Given the description of an element on the screen output the (x, y) to click on. 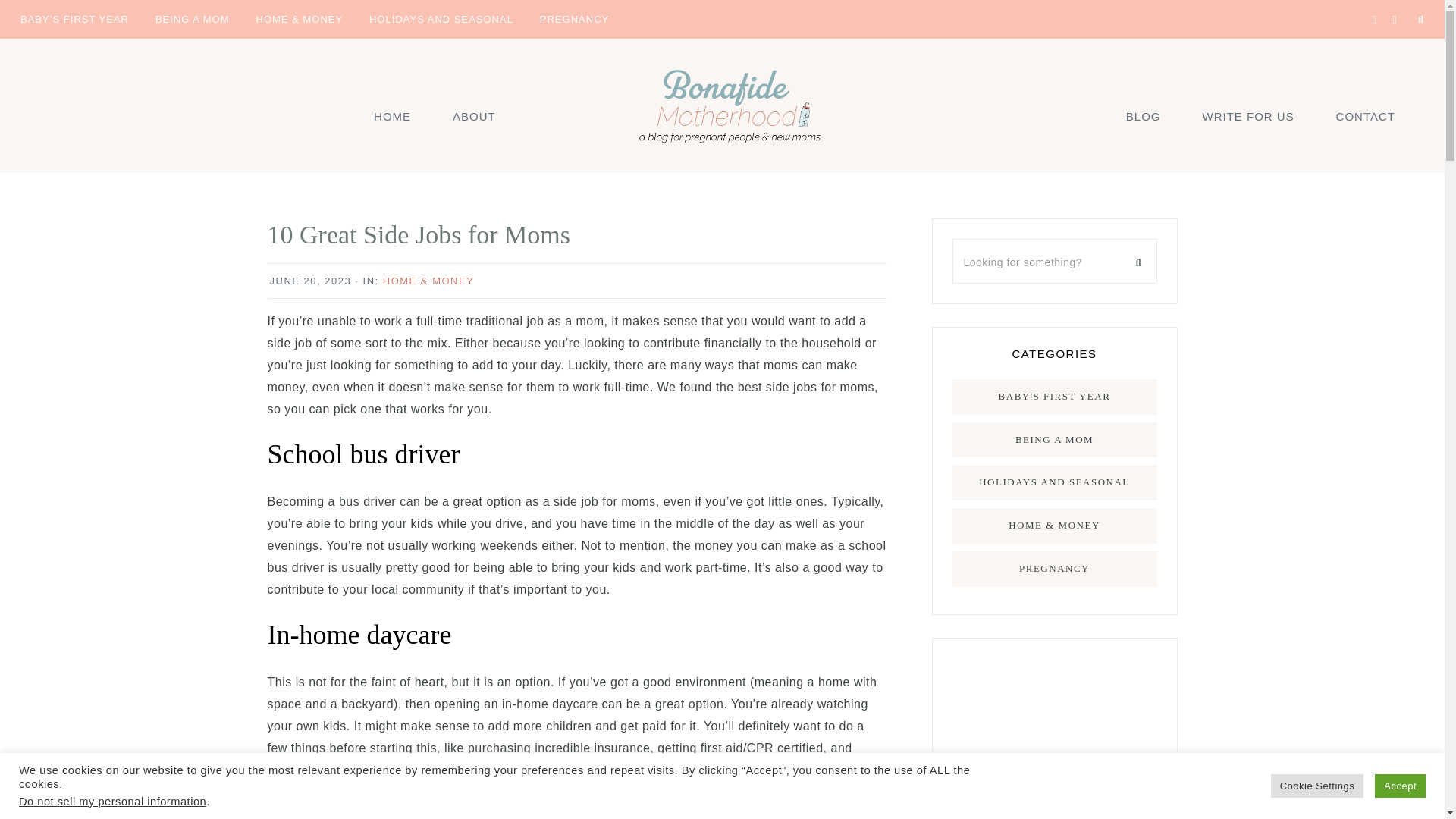
BEING A MOM (192, 18)
CONTACT (1365, 115)
WRITE FOR US (1247, 115)
PREGNANCY (574, 18)
HOLIDAYS AND SEASONAL (441, 18)
HOME (392, 115)
Advertisement (1054, 738)
ABOUT (474, 115)
BLOG (1142, 115)
